Given the description of an element on the screen output the (x, y) to click on. 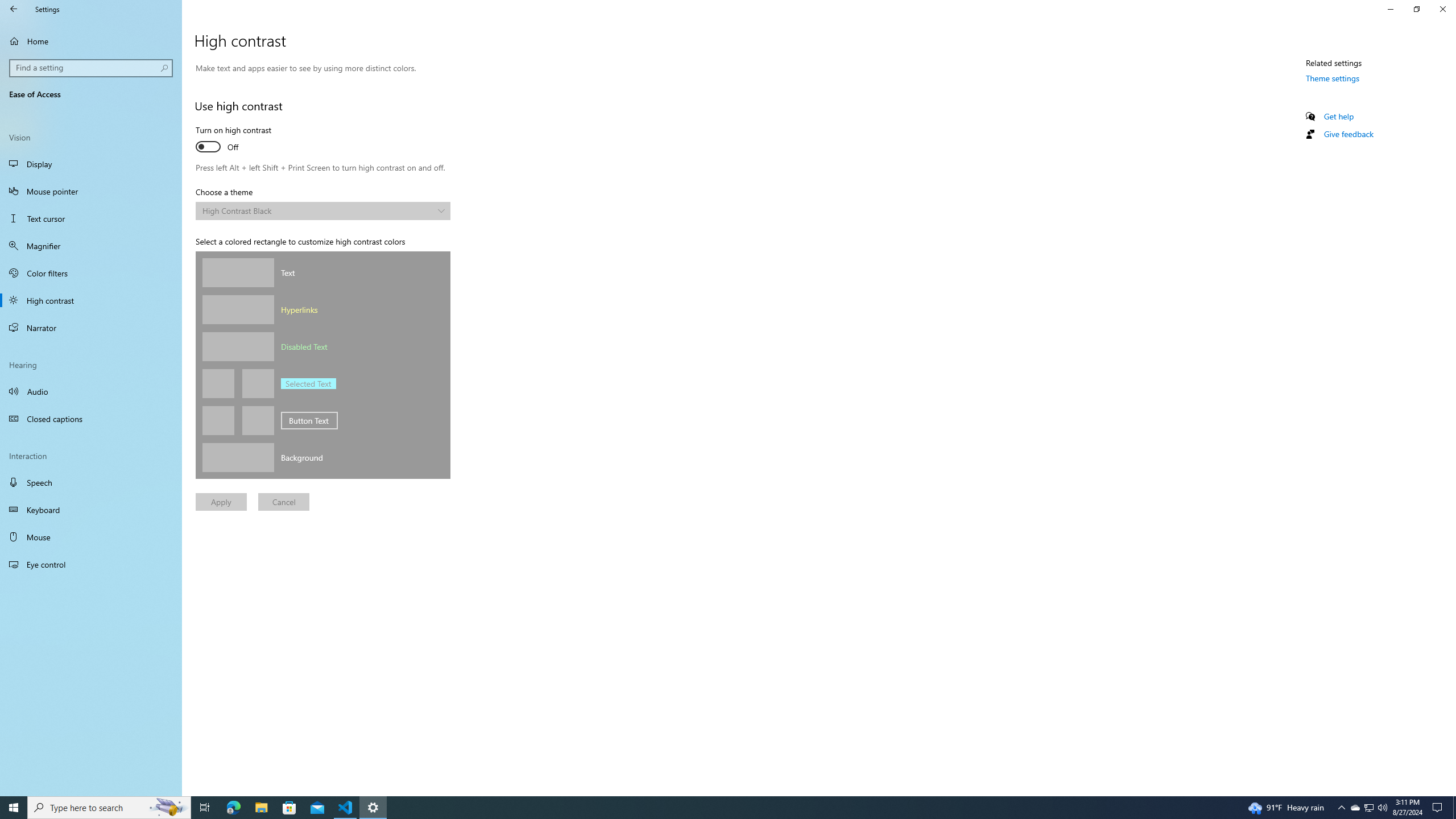
Hyperlink text color (237, 309)
Display (91, 163)
Search box, Find a setting (91, 67)
Cancel (282, 502)
Search highlights icon opens search home window (167, 807)
Turn on high contrast (237, 139)
Mouse (91, 536)
Audio (91, 390)
Home (91, 40)
Keyboard (91, 509)
Background color (237, 457)
Settings - 1 running window (373, 807)
Task View (204, 807)
Restore Settings (1416, 9)
Button background color (257, 420)
